Given the description of an element on the screen output the (x, y) to click on. 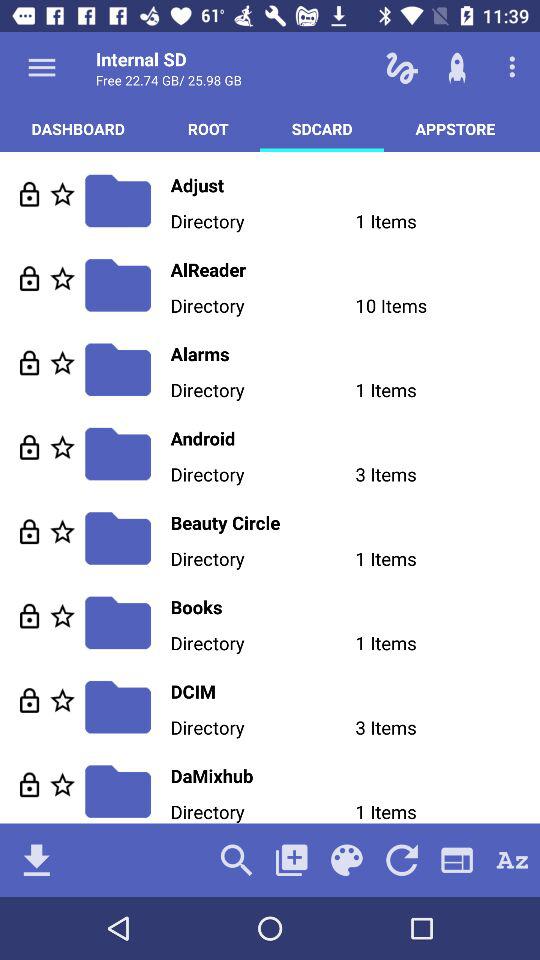
favorite system folder (62, 278)
